Given the description of an element on the screen output the (x, y) to click on. 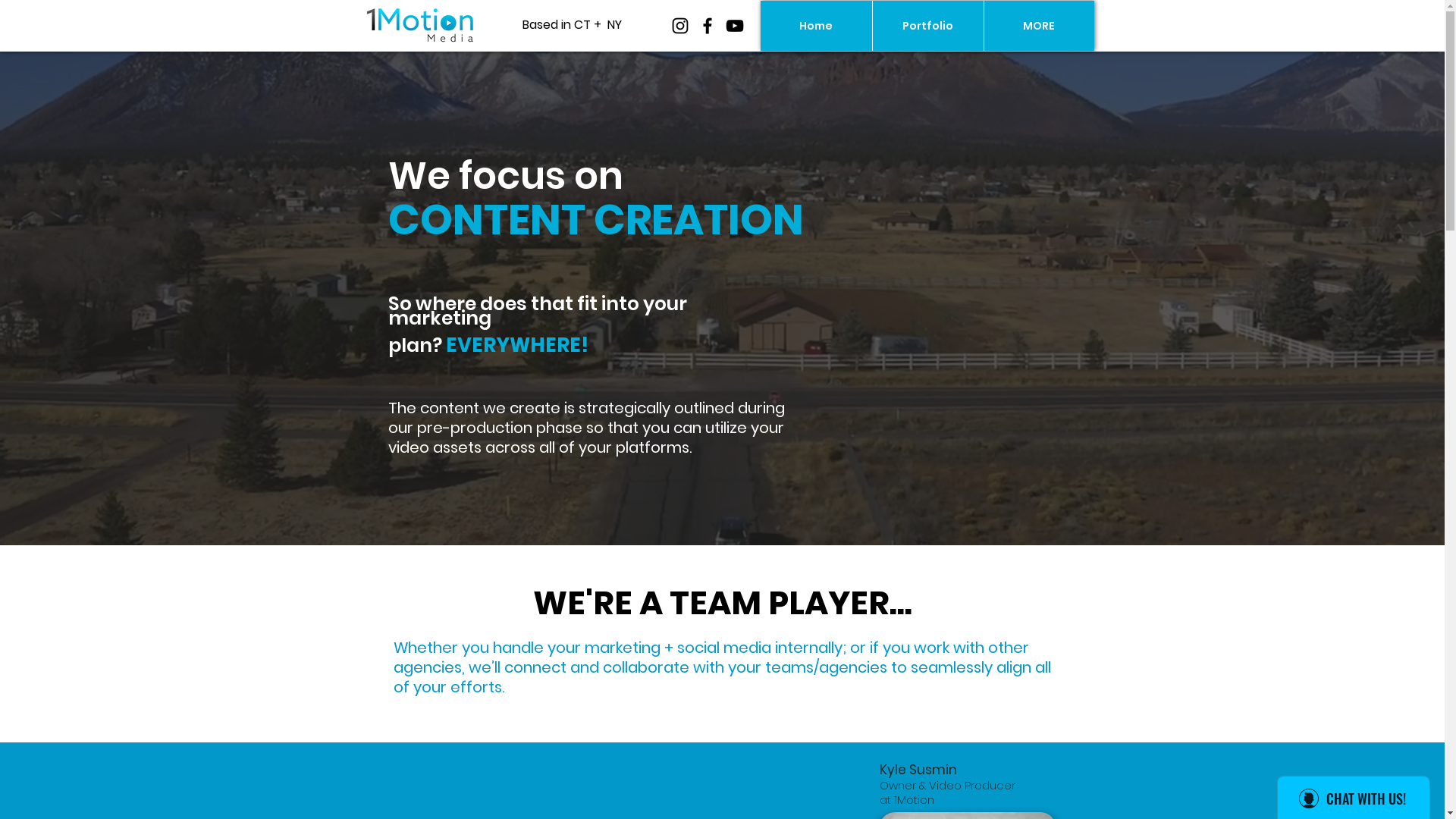
Portfolio Element type: text (927, 25)
Home Element type: text (815, 25)
